Given the description of an element on the screen output the (x, y) to click on. 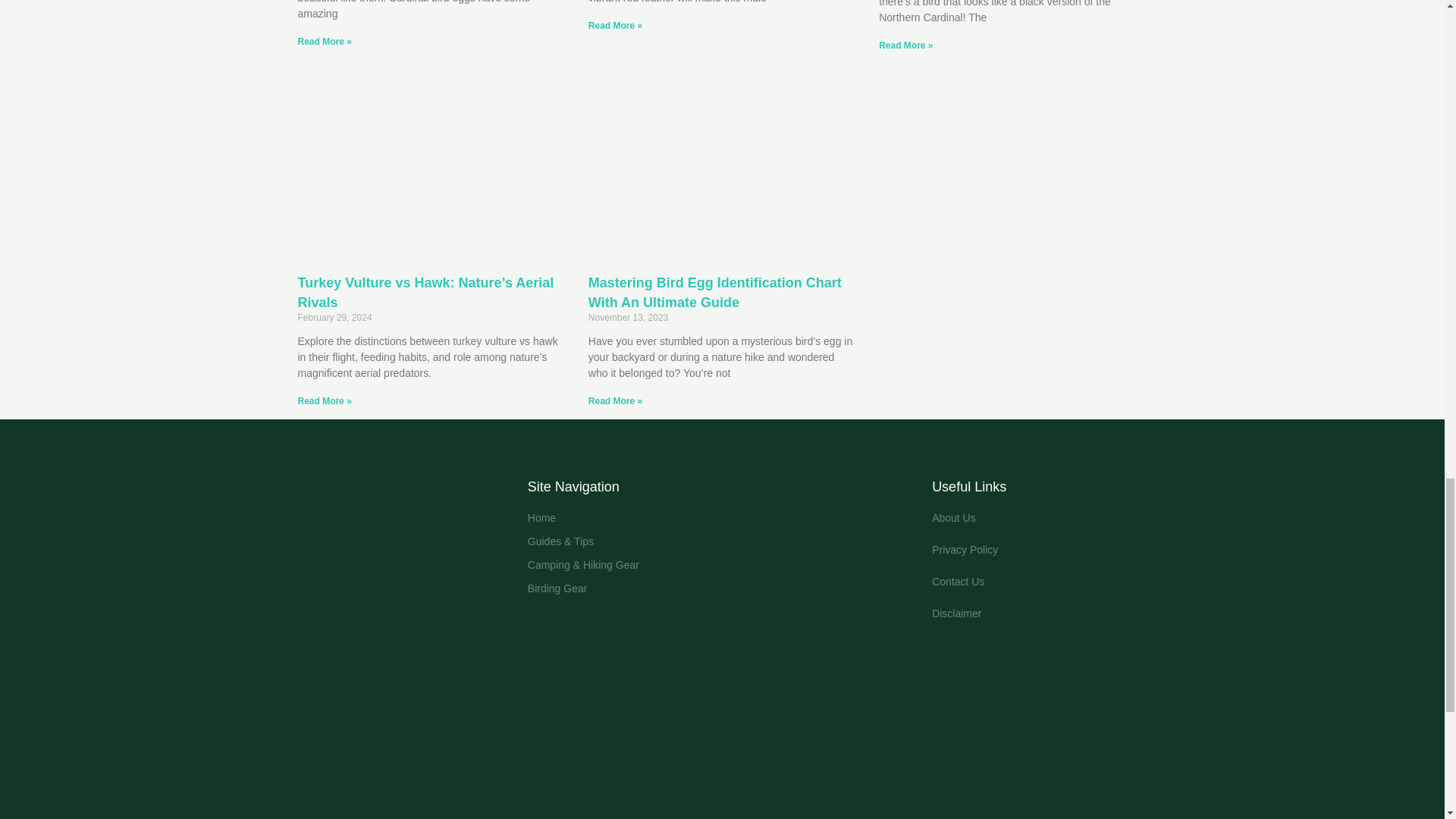
Home (722, 518)
